Given the description of an element on the screen output the (x, y) to click on. 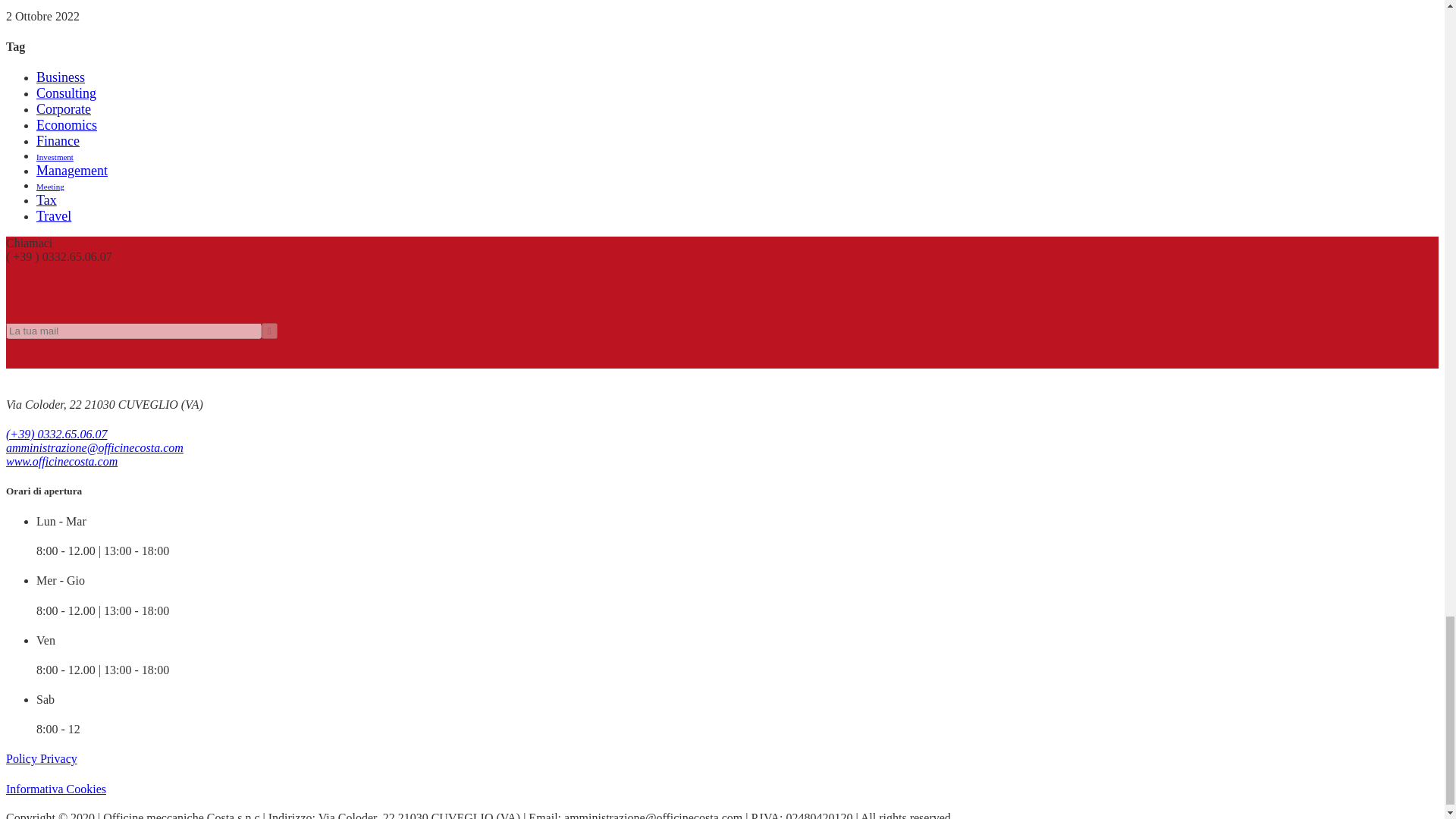
Consulting (66, 92)
Corporate (63, 109)
Business (60, 77)
